Given the description of an element on the screen output the (x, y) to click on. 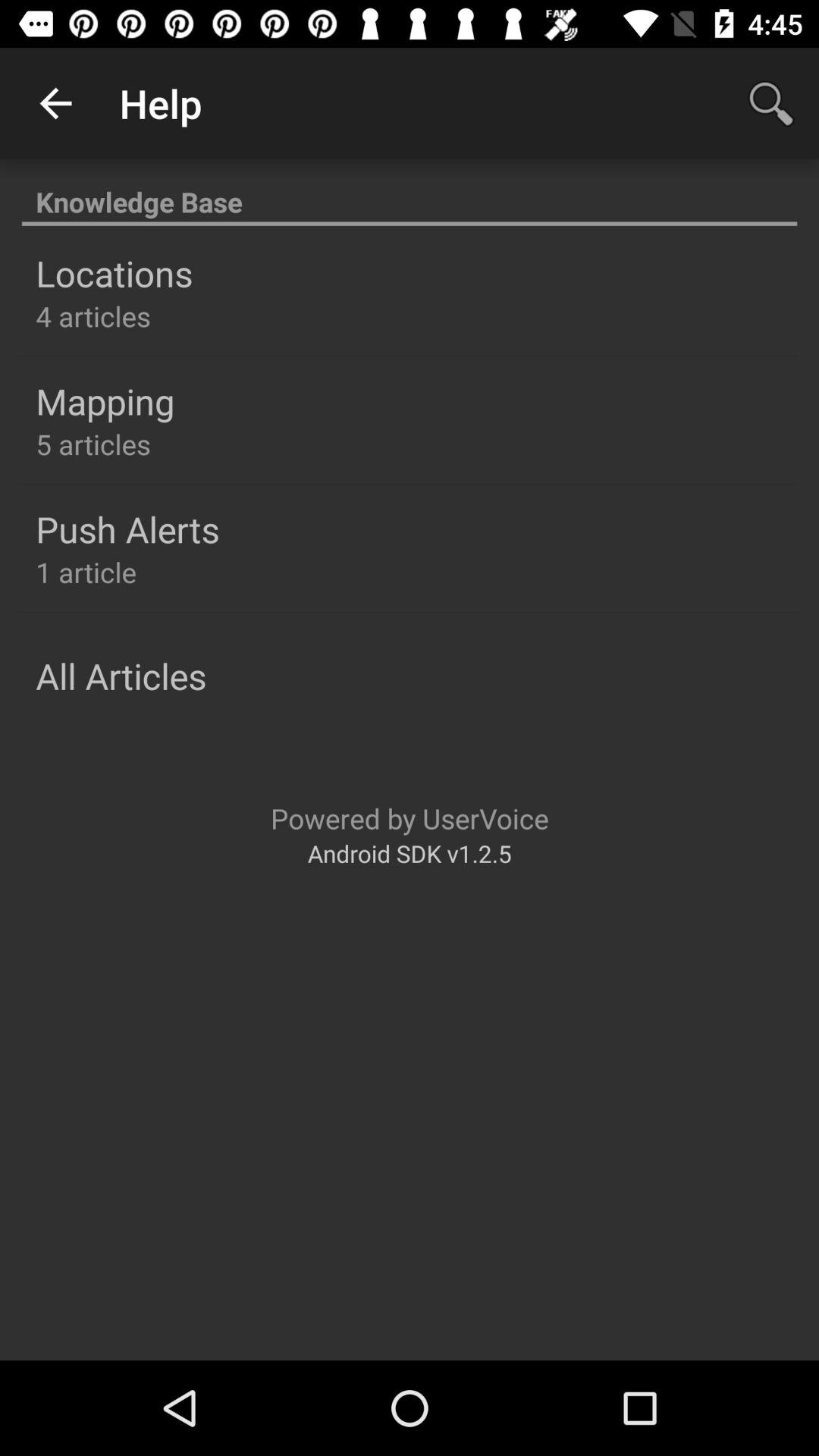
press the icon below powered by uservoice icon (409, 853)
